Given the description of an element on the screen output the (x, y) to click on. 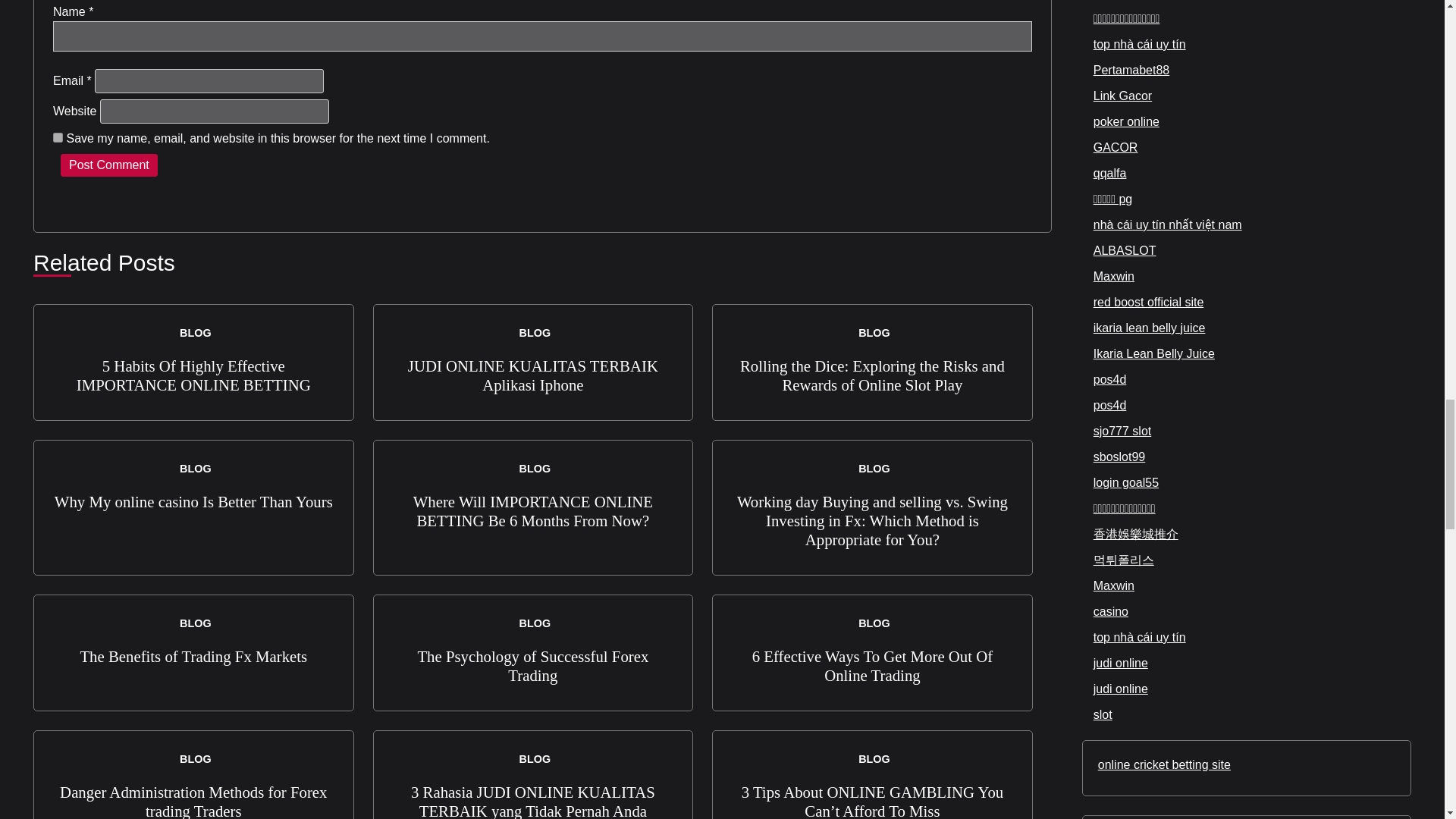
BLOG (193, 758)
The Psychology of Successful Forex Trading (531, 665)
Why My online casino Is Better Than Yours (194, 501)
BLOG (533, 623)
BLOG (193, 468)
BLOG (533, 332)
BLOG (533, 758)
yes (57, 137)
BLOG (533, 468)
5 Habits Of Highly Effective IMPORTANCE ONLINE BETTING (194, 375)
JUDI ONLINE KUALITAS TERBAIK Aplikasi Iphone (532, 375)
Where Will IMPORTANCE ONLINE BETTING Be 6 Months From Now? (532, 511)
6 Effective Ways To Get More Out Of Online Trading (872, 665)
BLOG (871, 332)
